Given the description of an element on the screen output the (x, y) to click on. 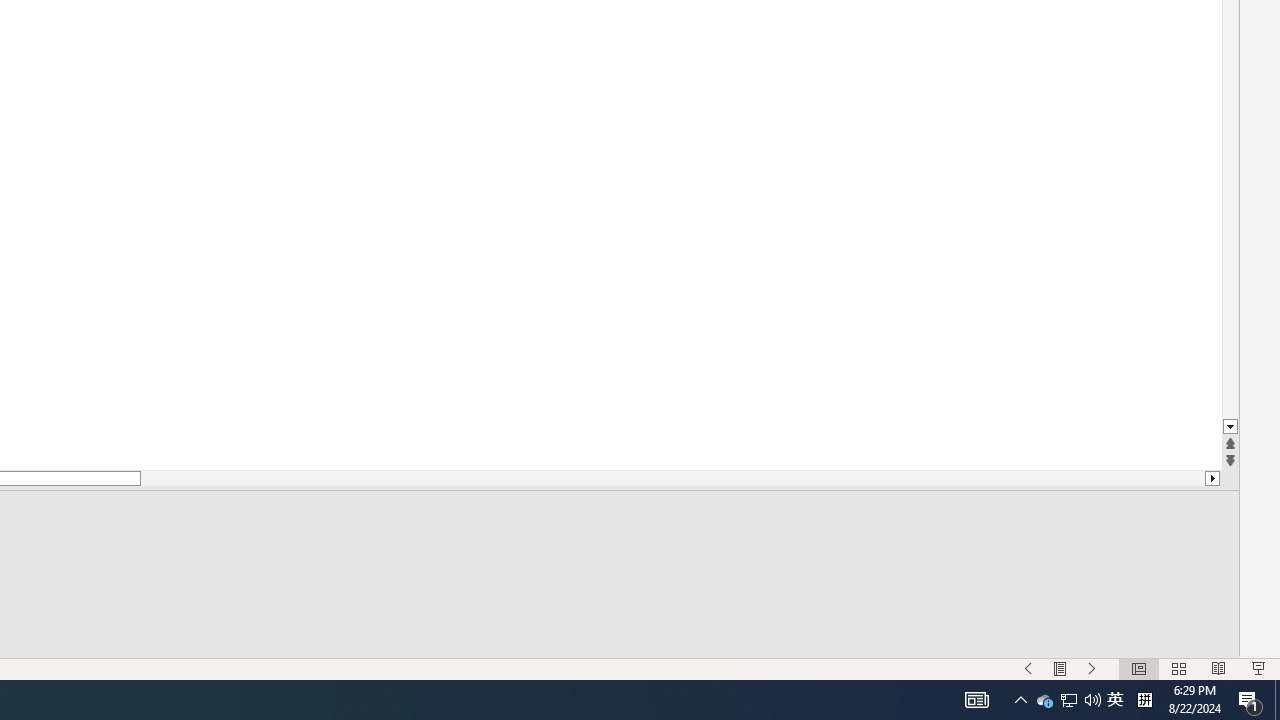
Slide Show Next On (1069, 699)
User Promoted Notification Area (1092, 668)
